Given the description of an element on the screen output the (x, y) to click on. 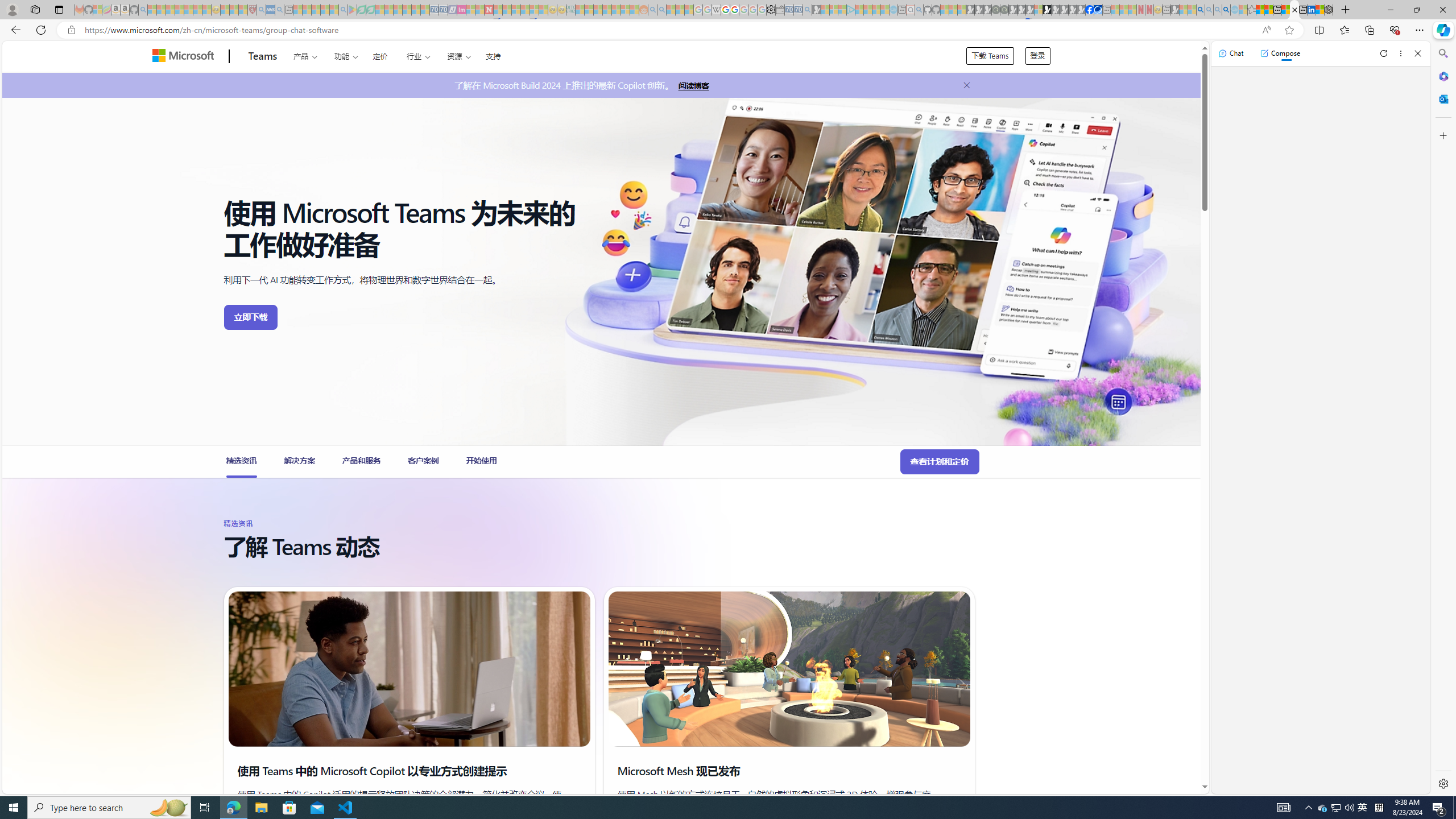
Bluey: Let's Play! - Apps on Google Play - Sleeping (352, 9)
Aberdeen, Hong Kong SAR weather forecast | Microsoft Weather (1268, 9)
Chat (1230, 52)
Latest Politics News & Archive | Newsweek.com - Sleeping (488, 9)
